Given the description of an element on the screen output the (x, y) to click on. 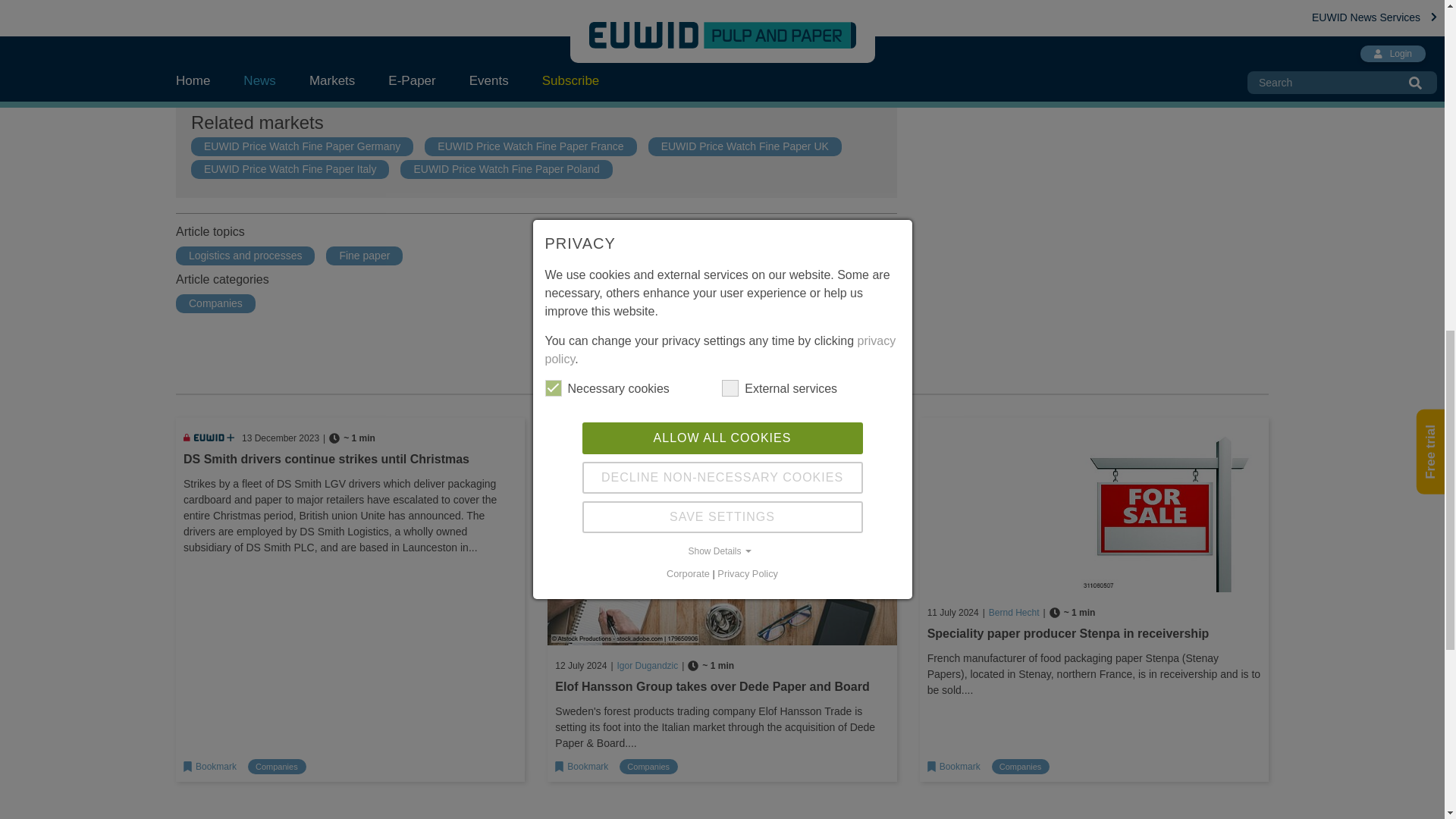
54 Sekunden (352, 437)
Companies (276, 766)
65 Sekunden (710, 665)
EUWID Price Watch Fine Paper Germany (301, 146)
EUWID Price Watch Fine Paper UK (744, 146)
Logistics and processes (245, 255)
EUWID Price Watch Fine Paper Italy (289, 168)
Fine paper (364, 255)
EUWID Price Watch Fine Paper Poland (505, 168)
Companies (216, 303)
62 Sekunden (1072, 612)
DS Smith drivers continue strikes until Christmas (325, 459)
EUWID Price Watch Fine Paper France (530, 146)
